Given the description of an element on the screen output the (x, y) to click on. 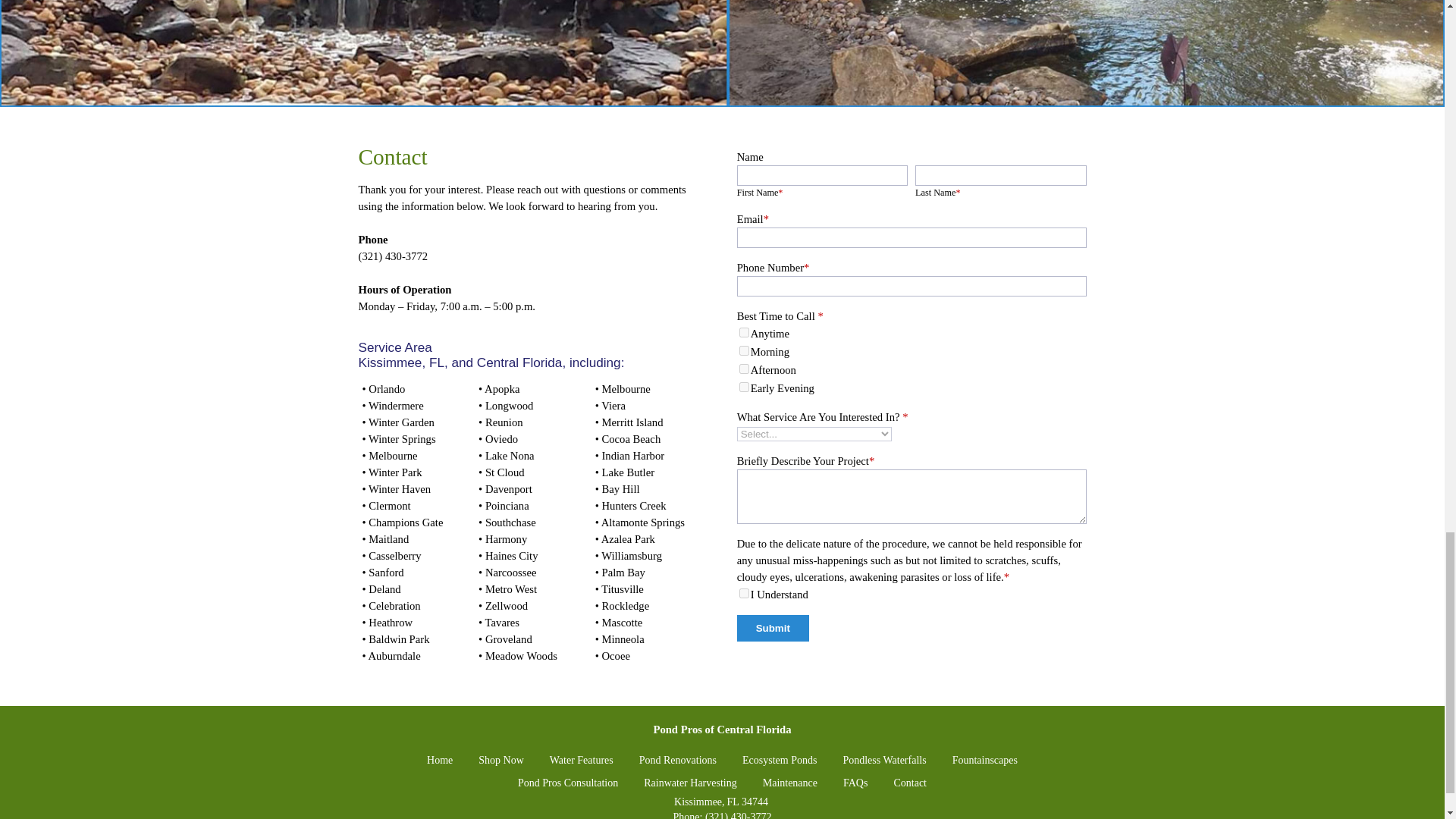
Rainwater Harvesting (689, 783)
Maintenance (789, 783)
Water Features (581, 760)
Ecosystem Ponds (779, 760)
Contact (909, 783)
Submit (772, 628)
Fountainscapes (984, 760)
Pond Pros Consultation (567, 783)
Anytime (744, 332)
Afternoon (744, 368)
Early Evening (744, 387)
FAQs (855, 783)
Pond Renovations (677, 760)
Submit (772, 628)
Morning (744, 350)
